Given the description of an element on the screen output the (x, y) to click on. 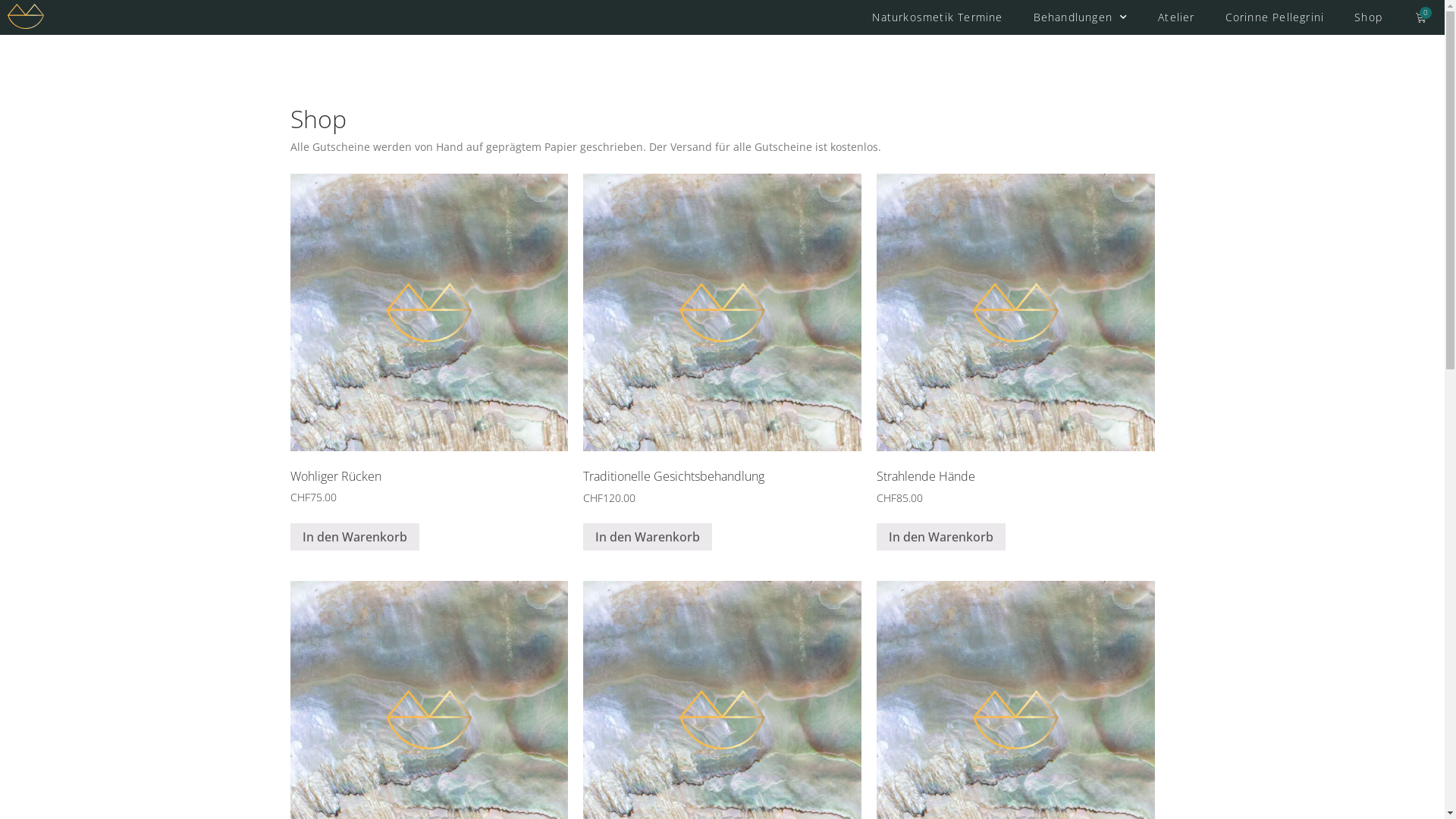
0 Element type: text (1420, 17)
Shop Element type: text (1368, 17)
Naturkosmetik Termine Element type: text (936, 17)
In den Warenkorb Element type: text (647, 536)
In den Warenkorb Element type: text (940, 536)
In den Warenkorb Element type: text (353, 536)
Atelier Element type: text (1175, 17)
Corinne Pellegrini Element type: text (1274, 17)
Behandlungen Element type: text (1080, 17)
Traditionelle Gesichtsbehandlung
CHF120.00 Element type: text (722, 339)
